Given the description of an element on the screen output the (x, y) to click on. 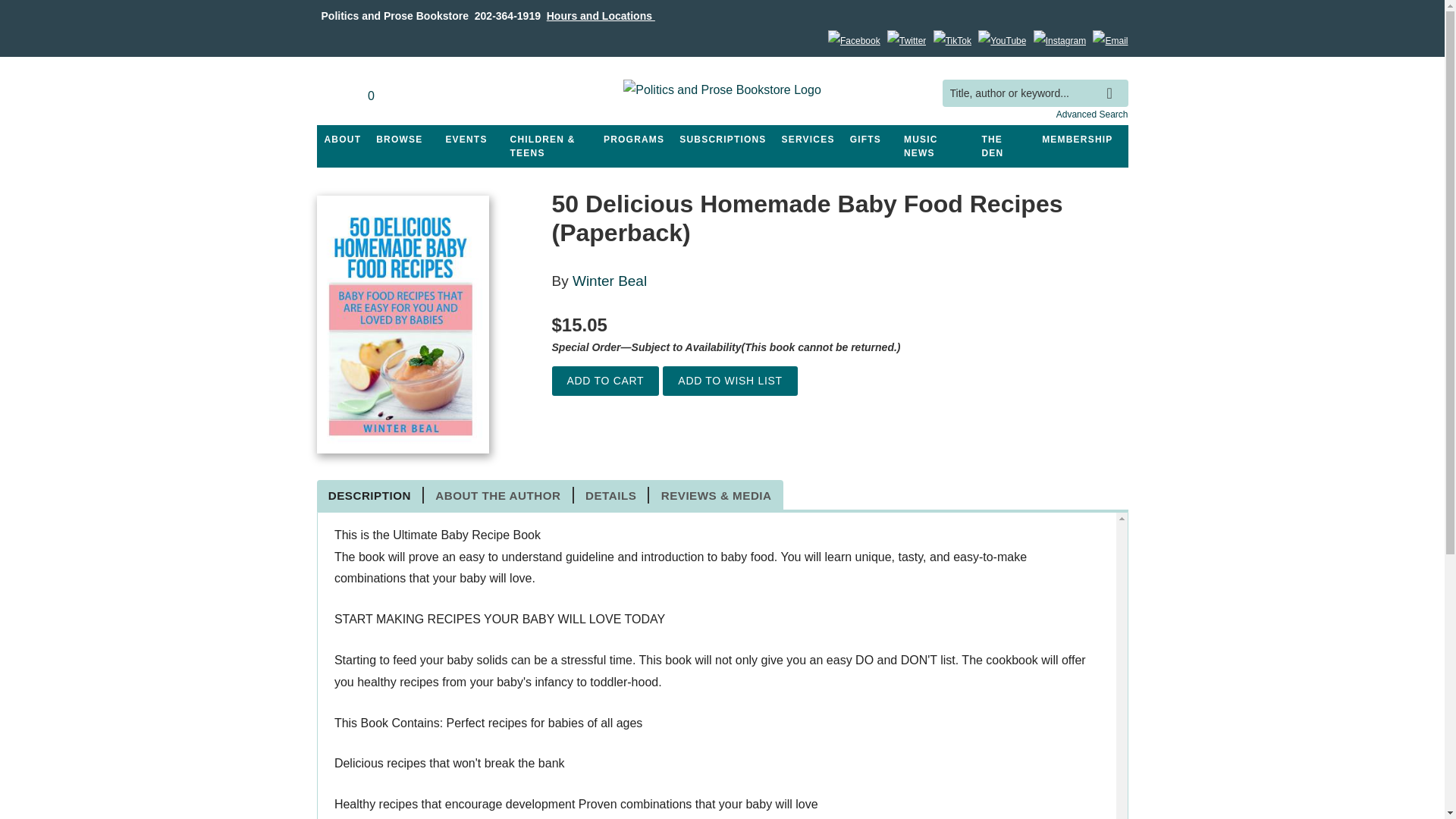
Add to Cart (605, 380)
Title, author or keyword... (1034, 93)
Advanced Search (1092, 113)
See information about our programs (633, 139)
EVENTS (465, 139)
SUBSCRIPTIONS (722, 139)
search (1112, 81)
See our store ours and locations (601, 15)
Hours and Locations  (601, 15)
See our event calendar (465, 139)
